Given the description of an element on the screen output the (x, y) to click on. 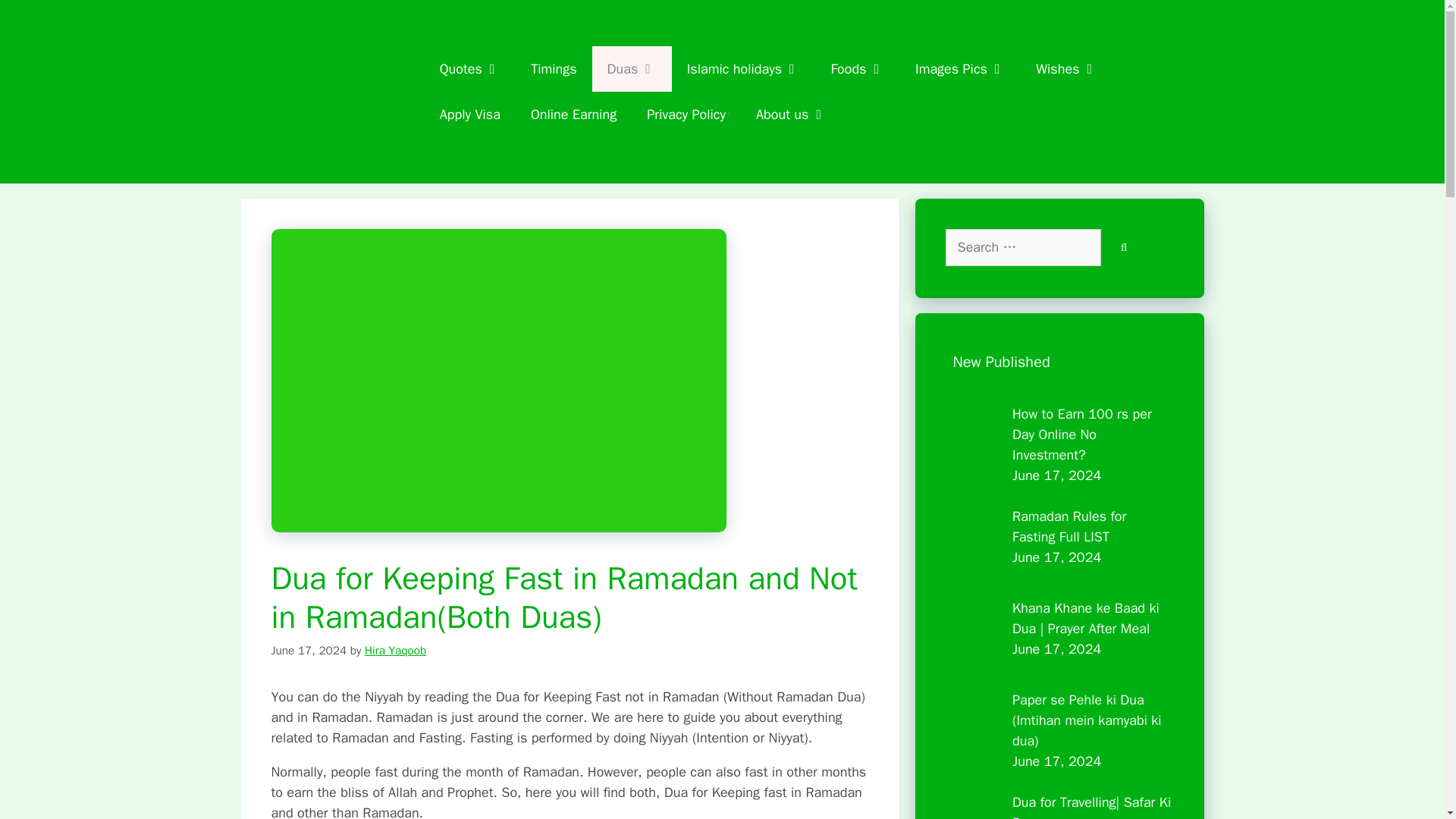
Images Pics (959, 68)
Online Earning (573, 114)
Duas (631, 68)
Search for: (1022, 247)
Quotes (470, 68)
Wishes (1066, 68)
Foods (857, 68)
Islamic holidays (743, 68)
Timings (553, 68)
Apply Visa (470, 114)
